Given the description of an element on the screen output the (x, y) to click on. 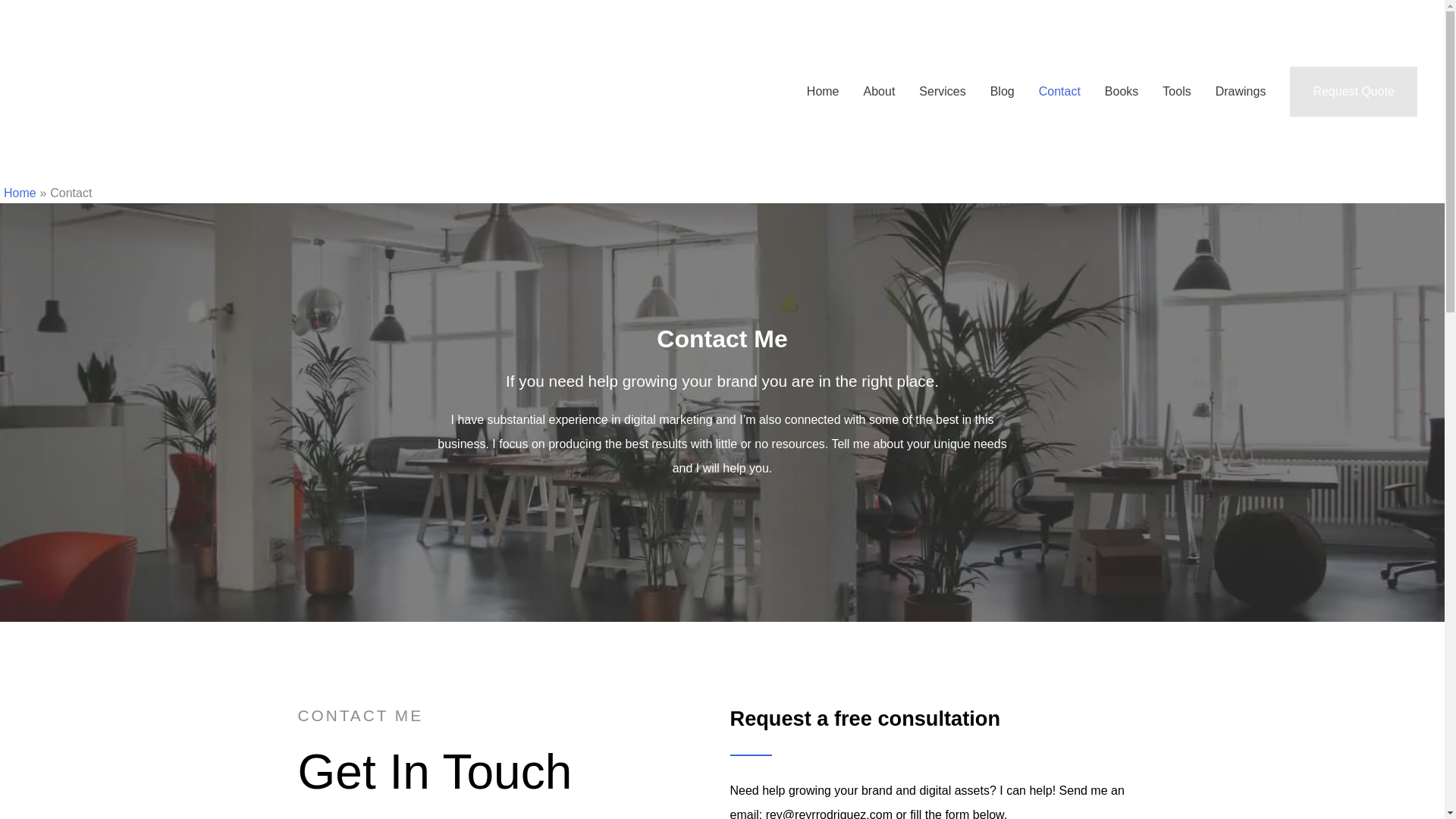
Home (822, 91)
Drawings (1241, 91)
Services (941, 91)
Books (1121, 91)
Blog (1002, 91)
Home (20, 192)
Tools (1176, 91)
About (879, 91)
Request Quote (1353, 91)
Contact (1059, 91)
